Given the description of an element on the screen output the (x, y) to click on. 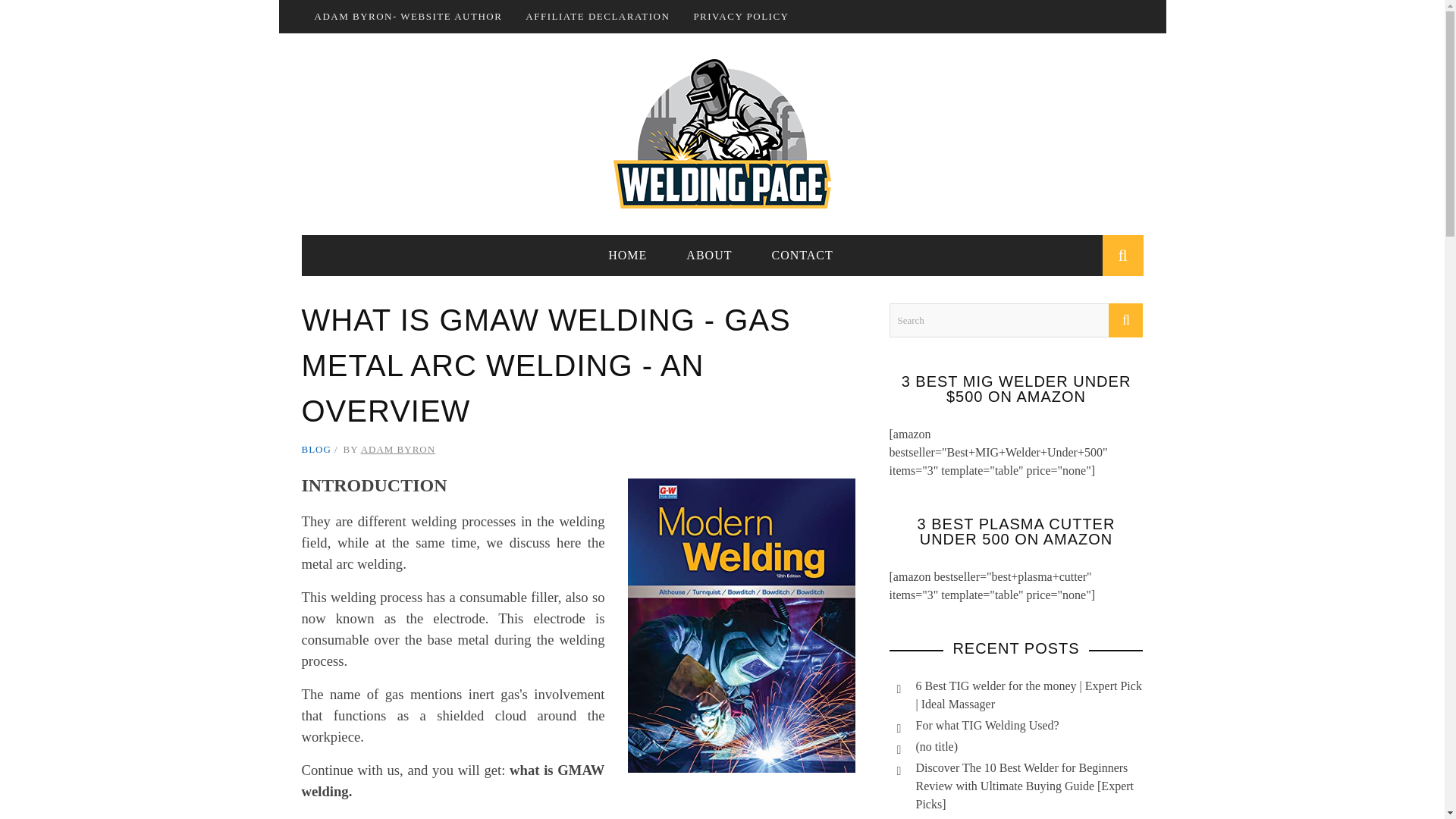
ADAM BYRON (398, 448)
HOME (627, 254)
ABOUT (708, 254)
Search (1015, 320)
PRIVACY POLICY (741, 16)
BLOG (316, 448)
AFFILIATE DECLARATION (597, 16)
CONTACT (801, 254)
ADAM BYRON- WEBSITE AUTHOR (408, 16)
